Given the description of an element on the screen output the (x, y) to click on. 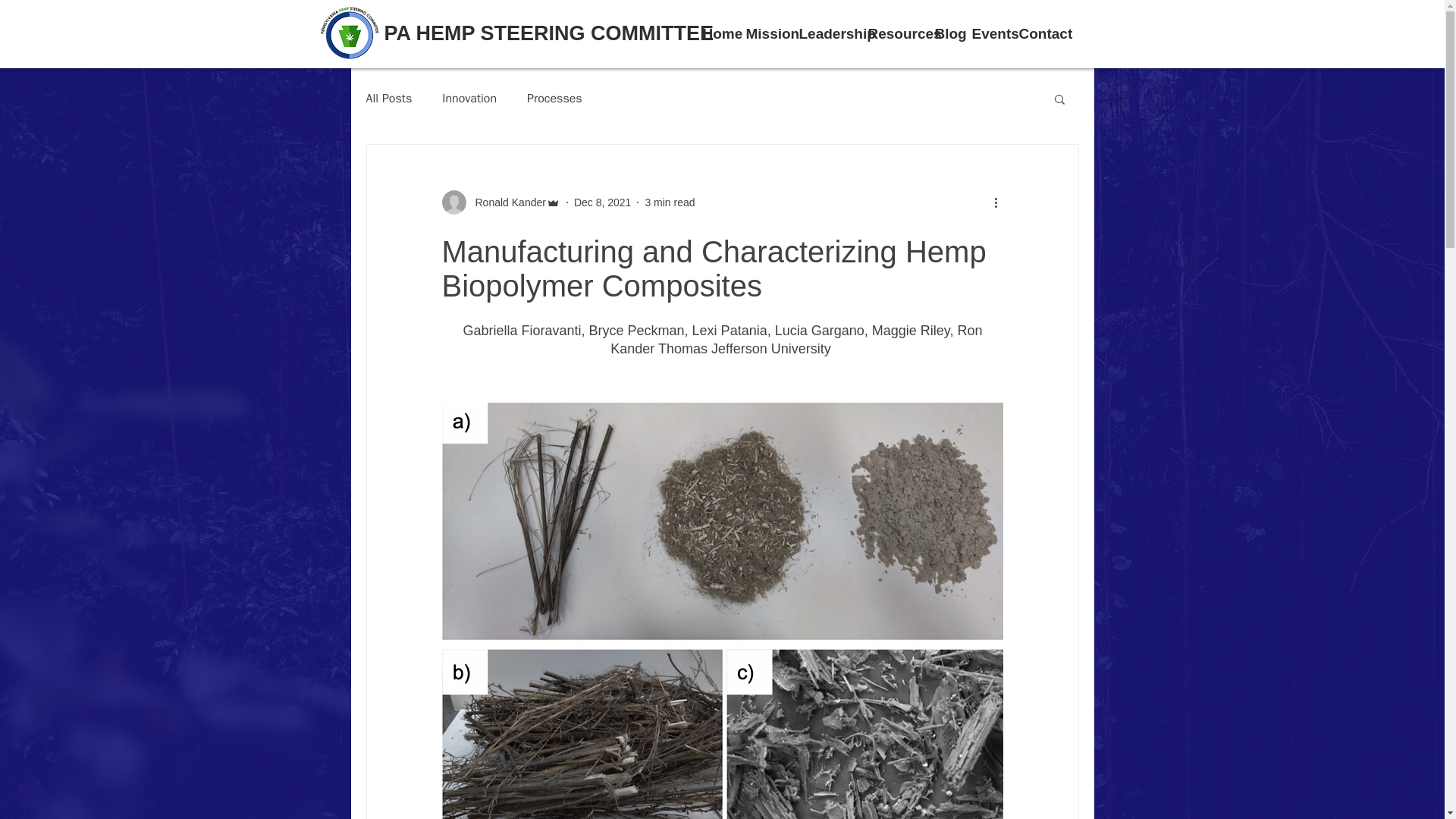
Blog (944, 34)
Dec 8, 2021 (602, 201)
Mission (765, 34)
Events (987, 34)
Leadership (826, 34)
Innovation (469, 98)
Home (716, 34)
Resources (893, 34)
Ronald Kander (500, 202)
All Posts (388, 98)
Contact (1037, 34)
3 min read (669, 201)
Ronald Kander (504, 201)
Processes (554, 98)
PA HEMP STEERING COMMITTEE (548, 33)
